Given the description of an element on the screen output the (x, y) to click on. 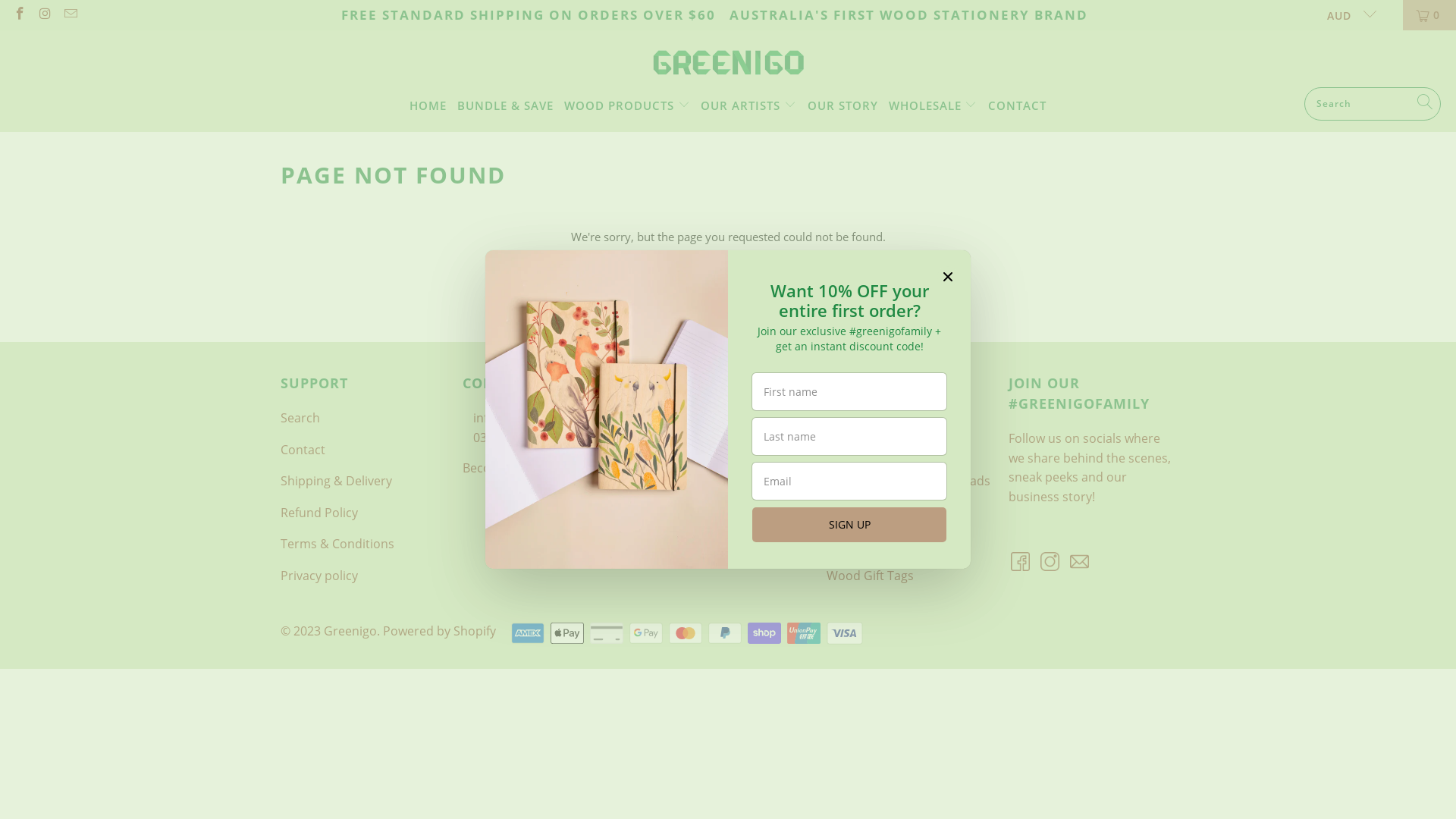
Wood Greeting Cards Element type: text (888, 512)
Terms & Conditions Element type: text (337, 543)
Email Greenigo Element type: hover (69, 14)
Cristina Re Element type: text (675, 417)
Search Element type: text (300, 417)
Refund Policy Element type: text (318, 512)
Daniella Germain Element type: text (693, 449)
HOME Element type: text (427, 104)
Become A Stockist Element type: text (514, 467)
Contact Element type: text (302, 449)
AUD Element type: text (1345, 15)
OUR ARTISTS Element type: text (748, 104)
Wood Cover Notebooks Element type: text (894, 449)
CONTACT Element type: text (1017, 104)
03 8375 9171 Element type: text (510, 437)
OUR STORY Element type: text (842, 104)
Email Greenigo Element type: hover (1079, 562)
Shipping & Delivery Element type: text (336, 480)
WHOLESALE Element type: text (932, 104)
Greenigo Element type: hover (728, 62)
WOOD PRODUCTS Element type: text (627, 104)
Greenigo Element type: text (349, 630)
Wood Gift Tags Element type: text (869, 575)
Privacy policy Element type: text (318, 575)
Wood Bookmarks Element type: text (877, 543)
Powered by Shopify Element type: text (438, 630)
Melanie Hava Element type: text (682, 512)
Hayley Sinnatt Element type: text (685, 480)
BUNDLE & SAVE Element type: text (505, 104)
Greenigo on Instagram Element type: hover (1050, 562)
Greenigo on Instagram Element type: hover (44, 14)
Greenigo on Facebook Element type: hover (1020, 562)
Wood Cover Journals Element type: text (886, 417)
Greenigo on Facebook Element type: hover (18, 14)
info@greenigo.com.au Element type: text (537, 417)
Wood Cover Blank Notepads Element type: text (908, 480)
